Given the description of an element on the screen output the (x, y) to click on. 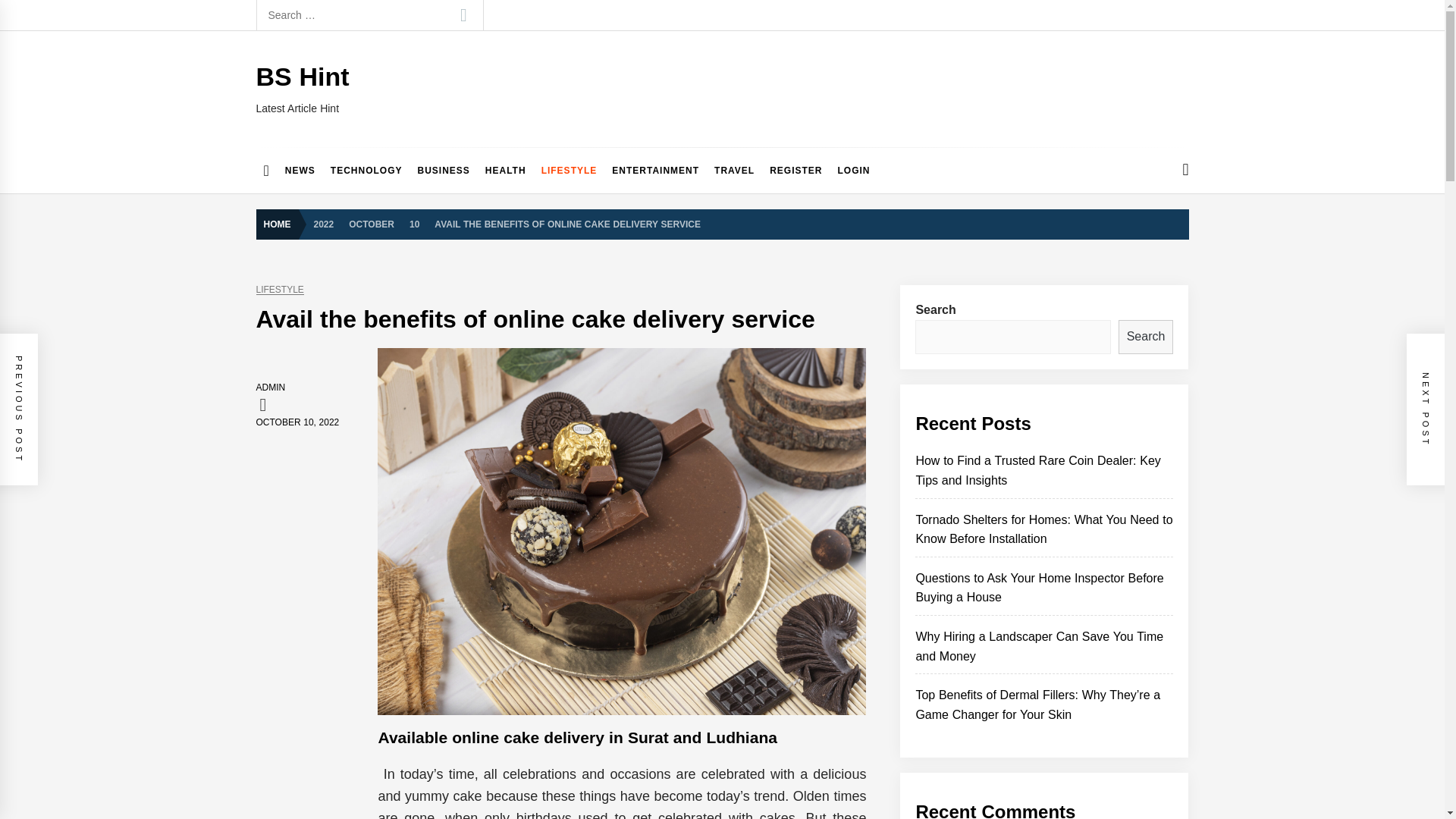
OCTOBER (370, 223)
NEWS (300, 170)
REGISTER (795, 170)
LIFESTYLE (280, 289)
Search (462, 15)
Search (1145, 336)
LOGIN (853, 170)
TECHNOLOGY (366, 170)
